Given the description of an element on the screen output the (x, y) to click on. 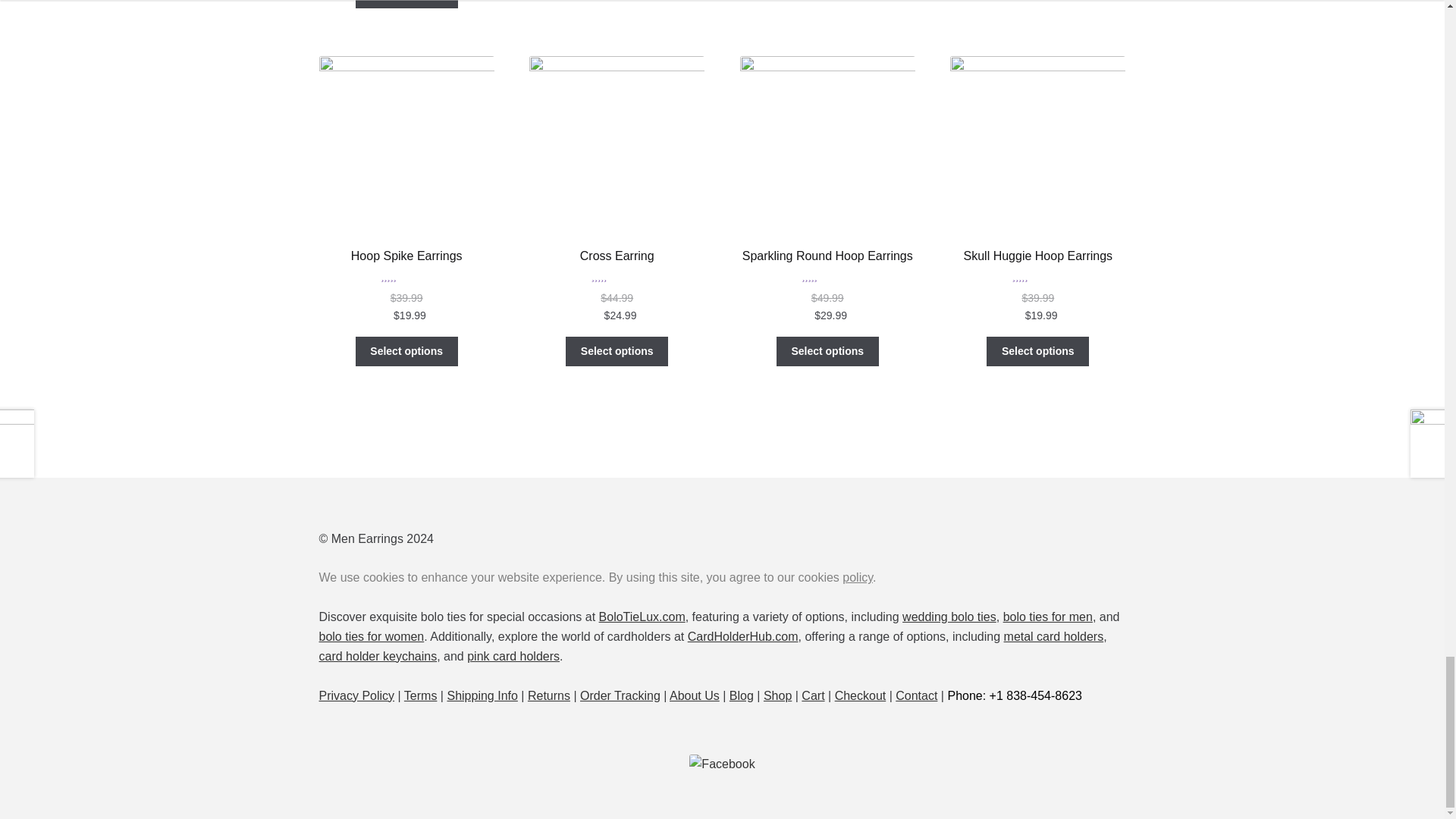
Select options (406, 4)
Select options (617, 351)
Select options (406, 351)
